Given the description of an element on the screen output the (x, y) to click on. 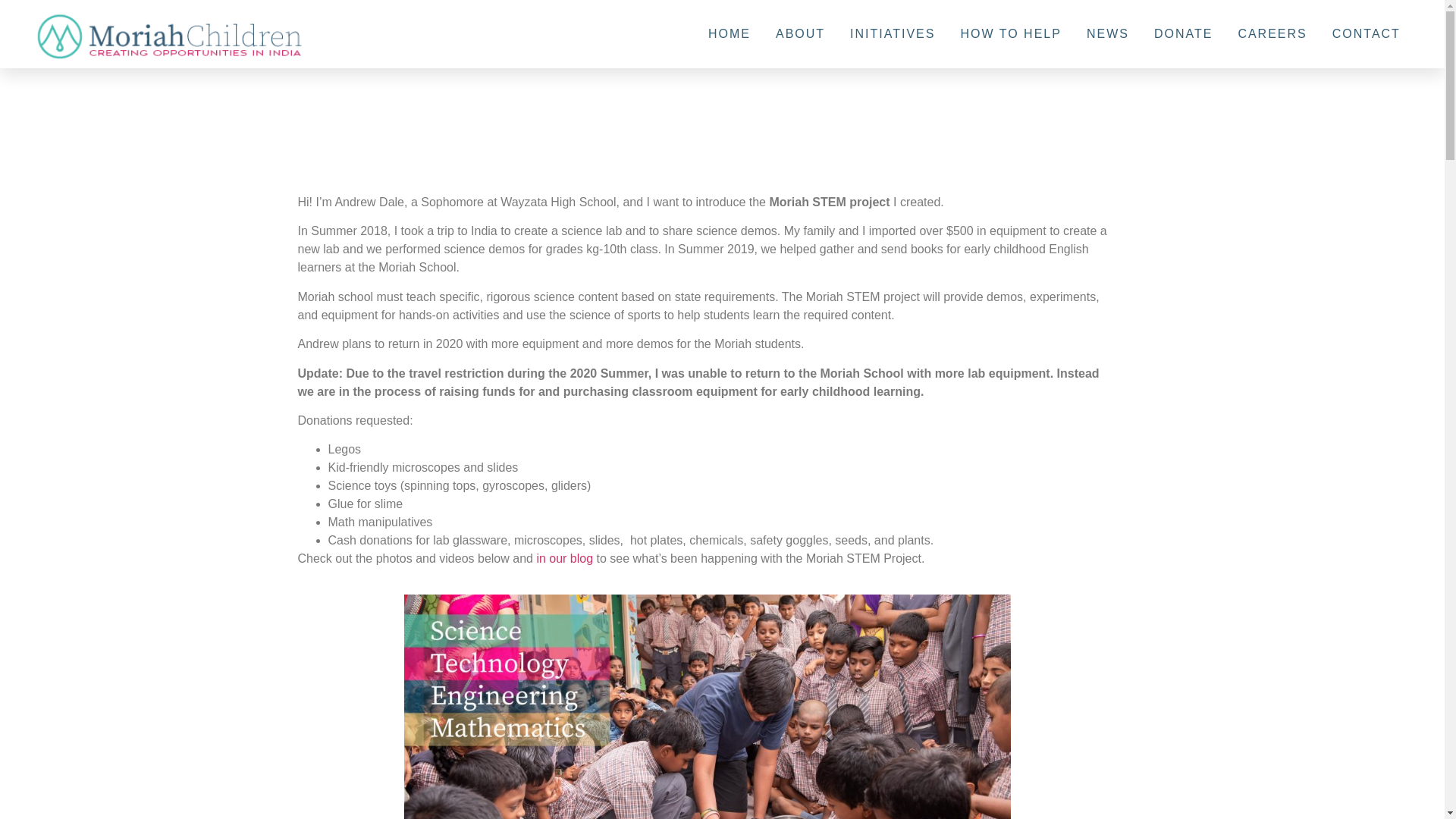
HOME (729, 33)
ABOUT (800, 33)
HOW TO HELP (1010, 33)
DONATE (1183, 33)
initiatives (892, 33)
CONTACT (1366, 33)
INITIATIVES (892, 33)
NEWS (1107, 33)
CAREERS (1271, 33)
in our blog (563, 558)
